Given the description of an element on the screen output the (x, y) to click on. 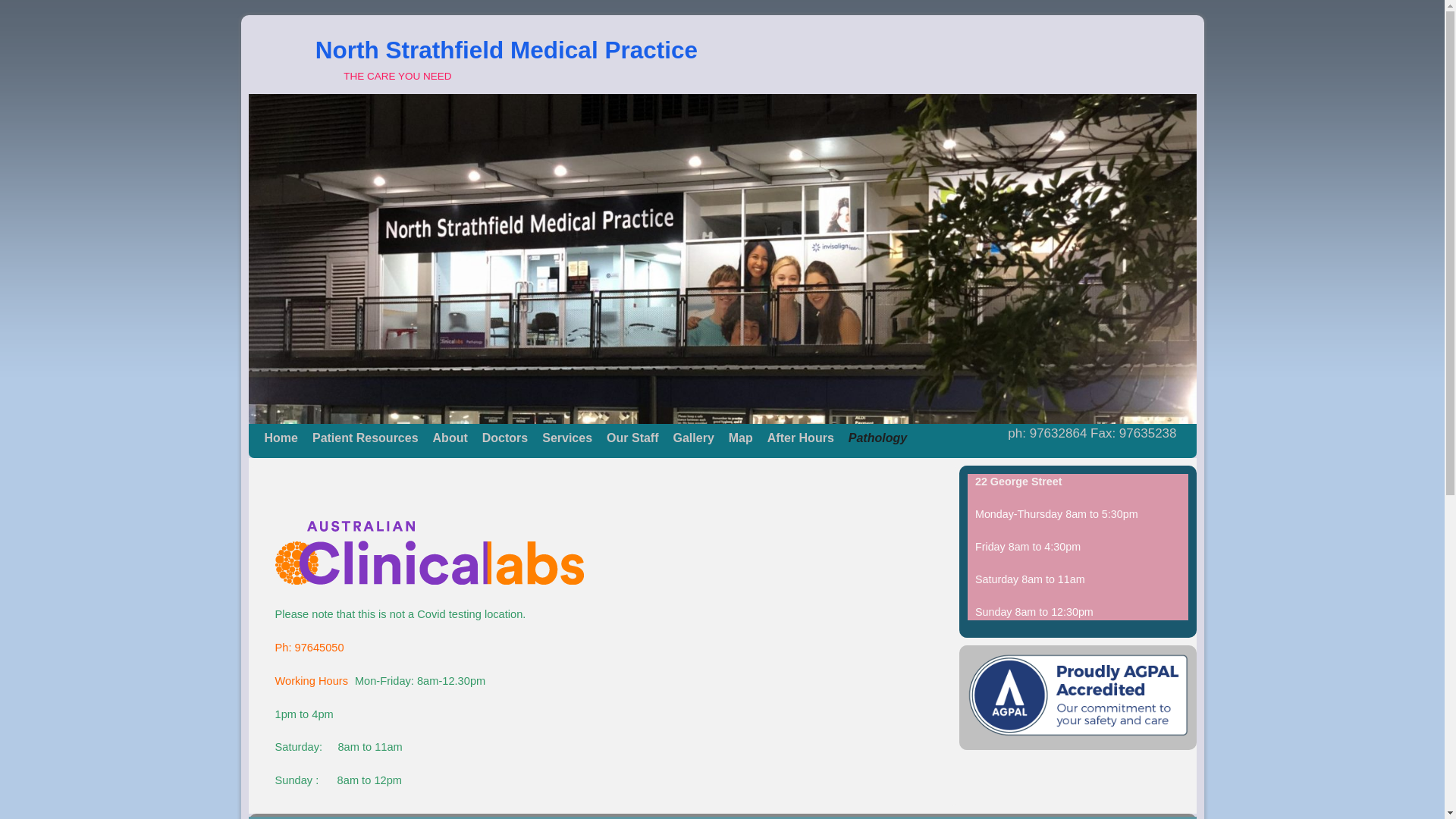
After Hours Element type: text (800, 437)
North Strathfield Medical Practice Element type: text (506, 49)
Patient Resources Element type: text (365, 437)
Our Staff Element type: text (632, 437)
Skip to secondary content Element type: text (296, 429)
Pathology Element type: text (877, 437)
About Element type: text (450, 437)
Skip to primary content Element type: text (291, 429)
Gallery Element type: text (693, 437)
Map Element type: text (740, 437)
Home Element type: text (281, 437)
Doctors Element type: text (505, 437)
Services Element type: text (567, 437)
